Given the description of an element on the screen output the (x, y) to click on. 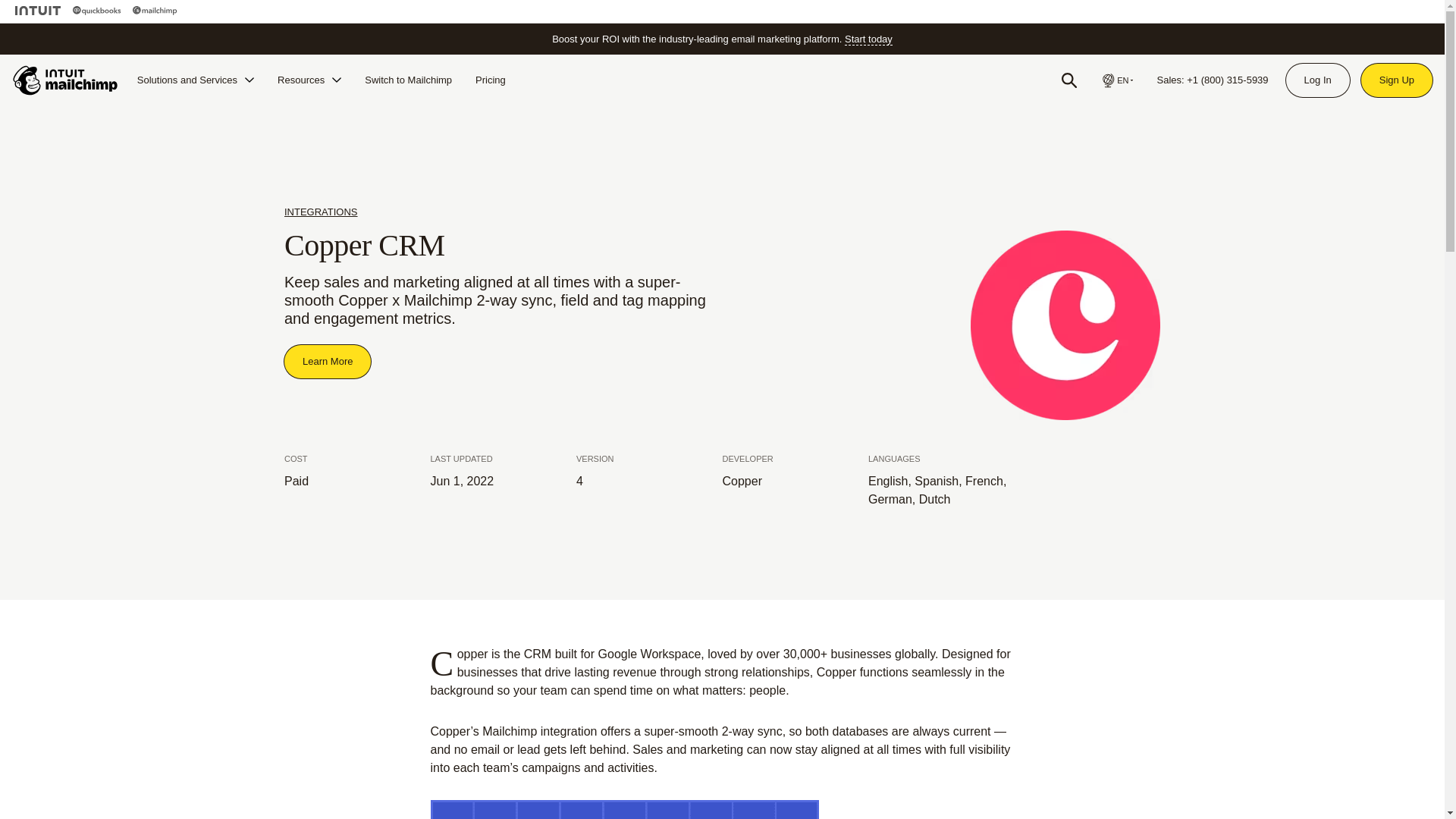
Learn More (327, 361)
Start today (868, 39)
Pricing (490, 79)
Switch to Mailchimp (408, 79)
Search (1069, 80)
INTEGRATIONS (320, 211)
Resources (308, 79)
Log In (1317, 80)
Sign Up (1396, 80)
Solutions and Services (195, 79)
